Given the description of an element on the screen output the (x, y) to click on. 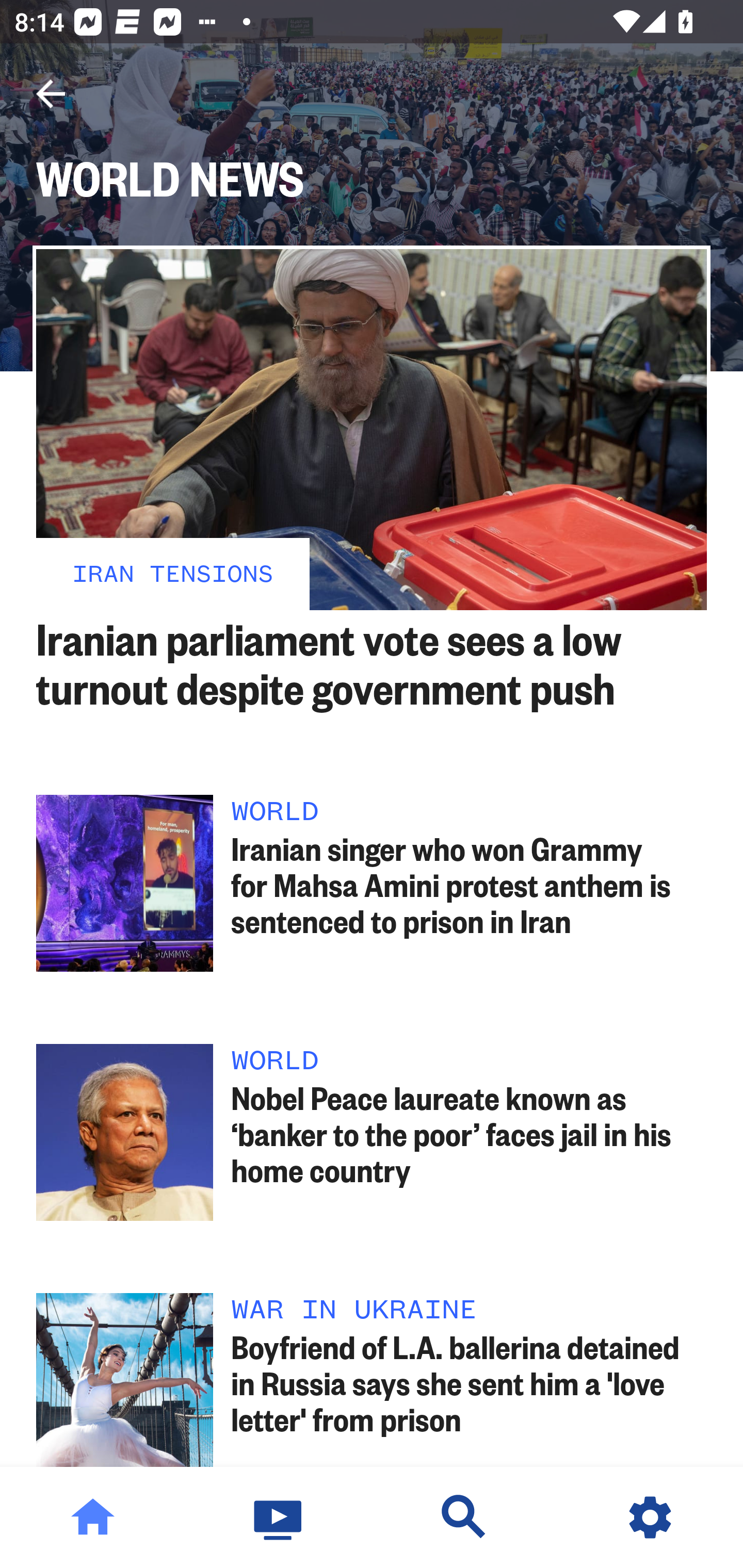
Navigate up (50, 93)
Watch (278, 1517)
Discover (464, 1517)
Settings (650, 1517)
